Given the description of an element on the screen output the (x, y) to click on. 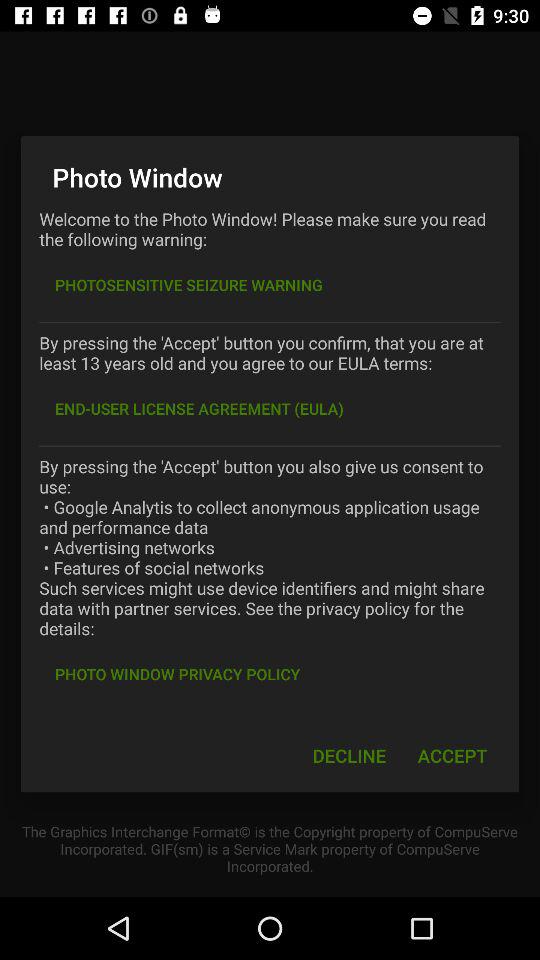
turn off the end user license (199, 408)
